Given the description of an element on the screen output the (x, y) to click on. 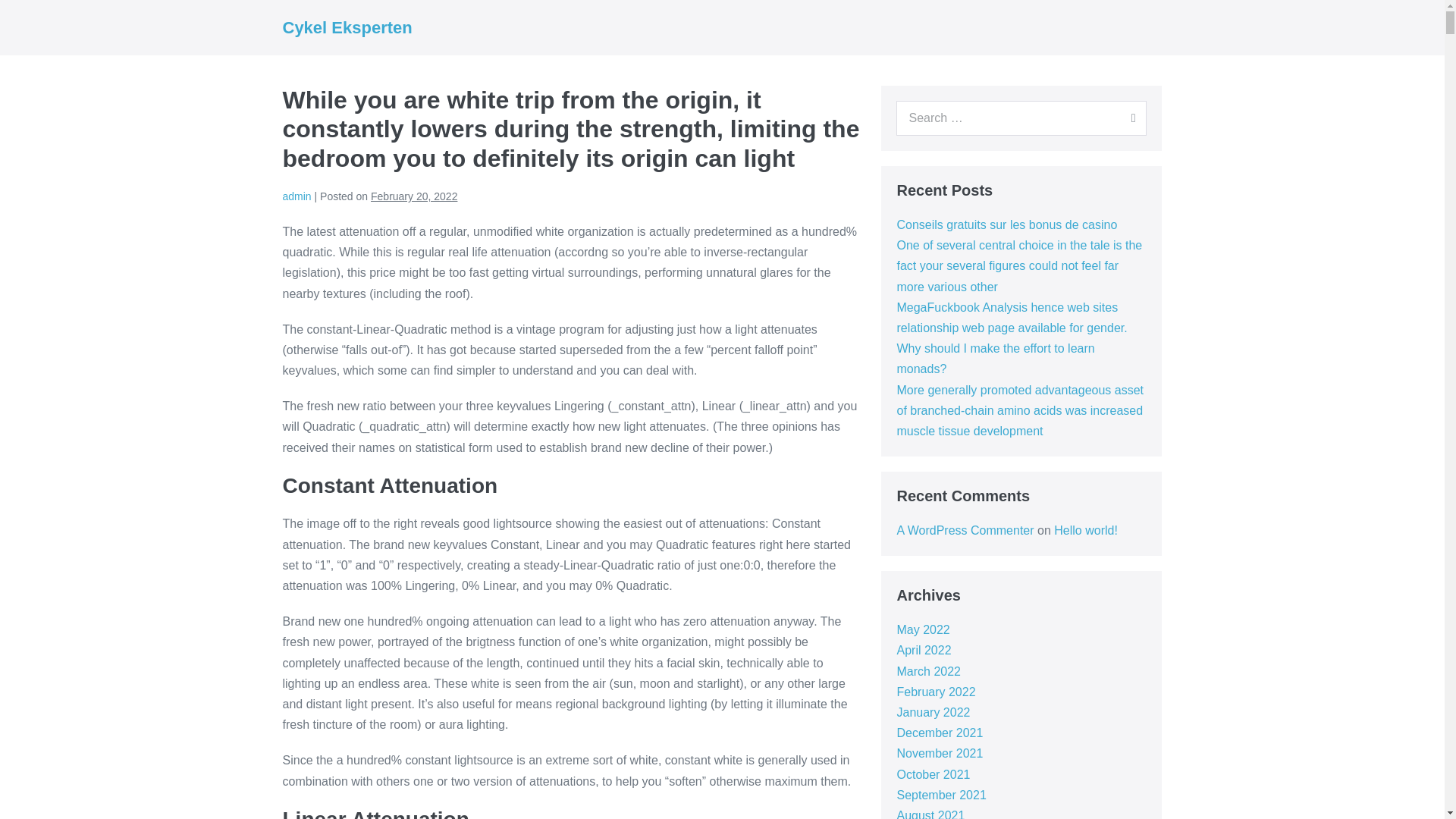
March 2022 (928, 671)
A WordPress Commenter (964, 530)
Conseils gratuits sur les bonus de casino (1006, 224)
September 2021 (940, 794)
January 2022 (932, 712)
February 2022 (935, 691)
December 2021 (939, 732)
View all posts by admin (296, 196)
